Given the description of an element on the screen output the (x, y) to click on. 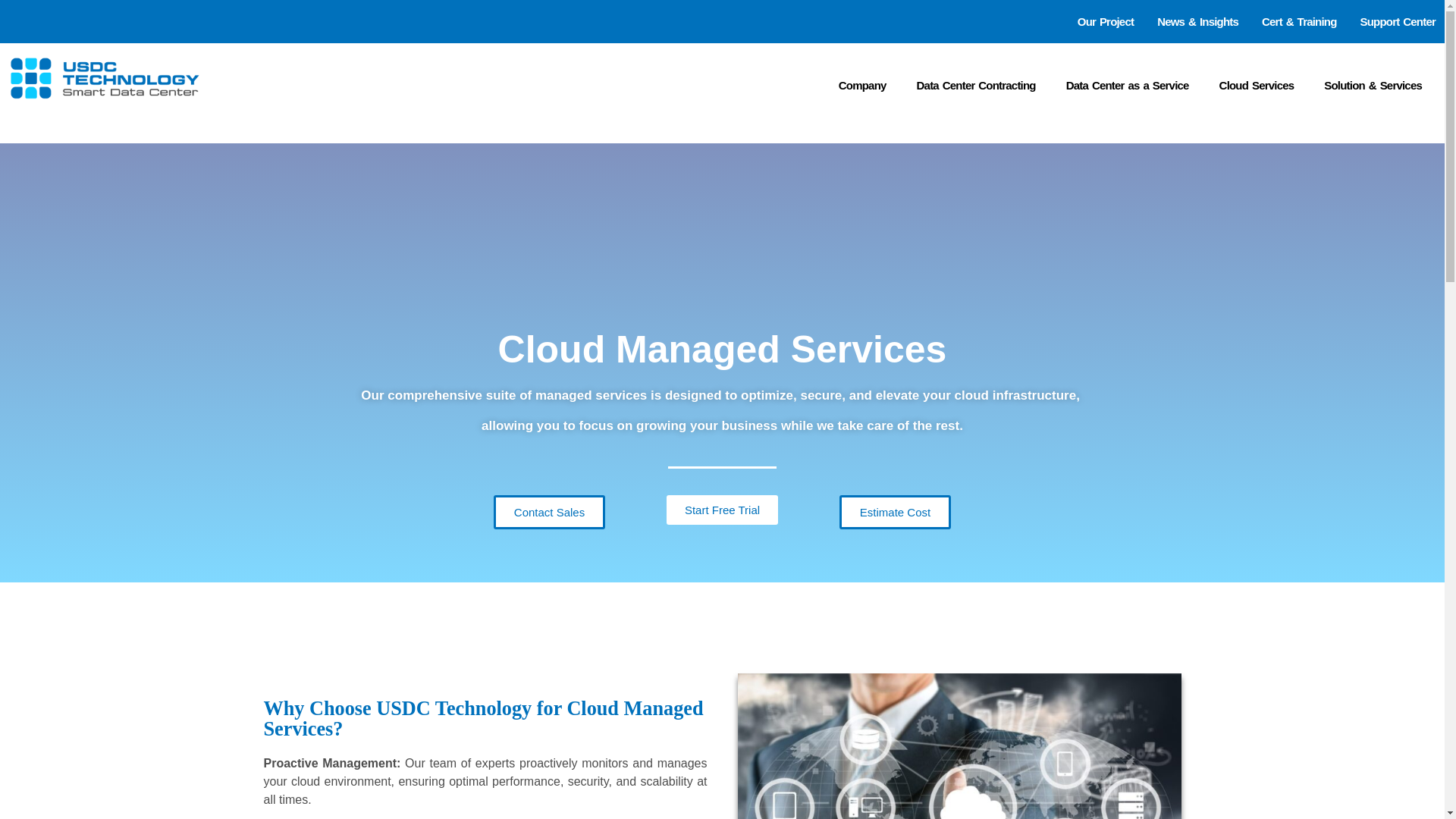
Company (862, 85)
Our Project (1105, 21)
Support Center (1397, 21)
